Given the description of an element on the screen output the (x, y) to click on. 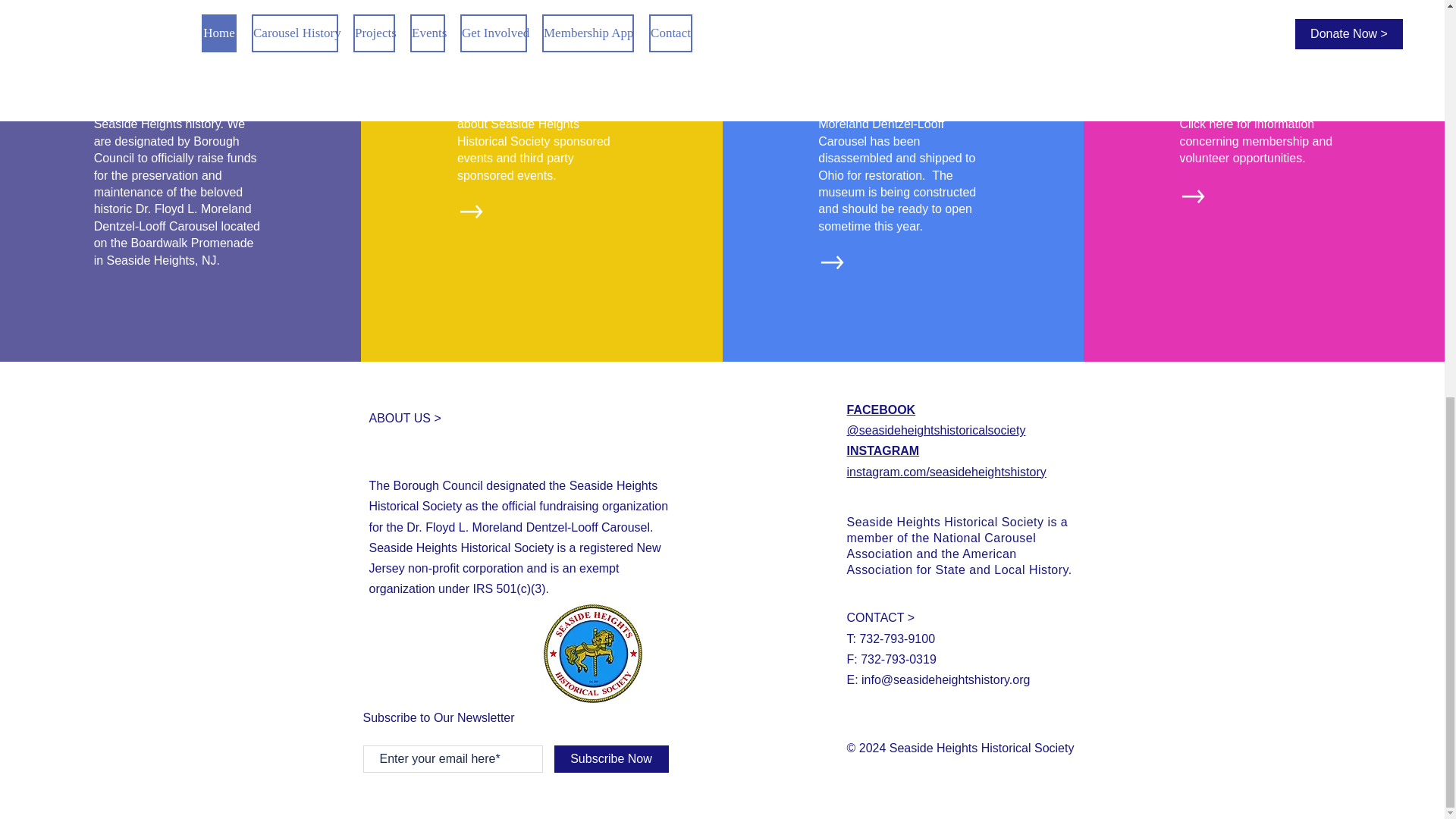
OUR EVENTS (523, 70)
GET INVOLVED (1253, 70)
INSTAGRAM (881, 450)
WHAT WE DO (160, 70)
OUR PROJECTS (898, 70)
Subscribe Now (610, 759)
FACEBOOK (880, 409)
